Given the description of an element on the screen output the (x, y) to click on. 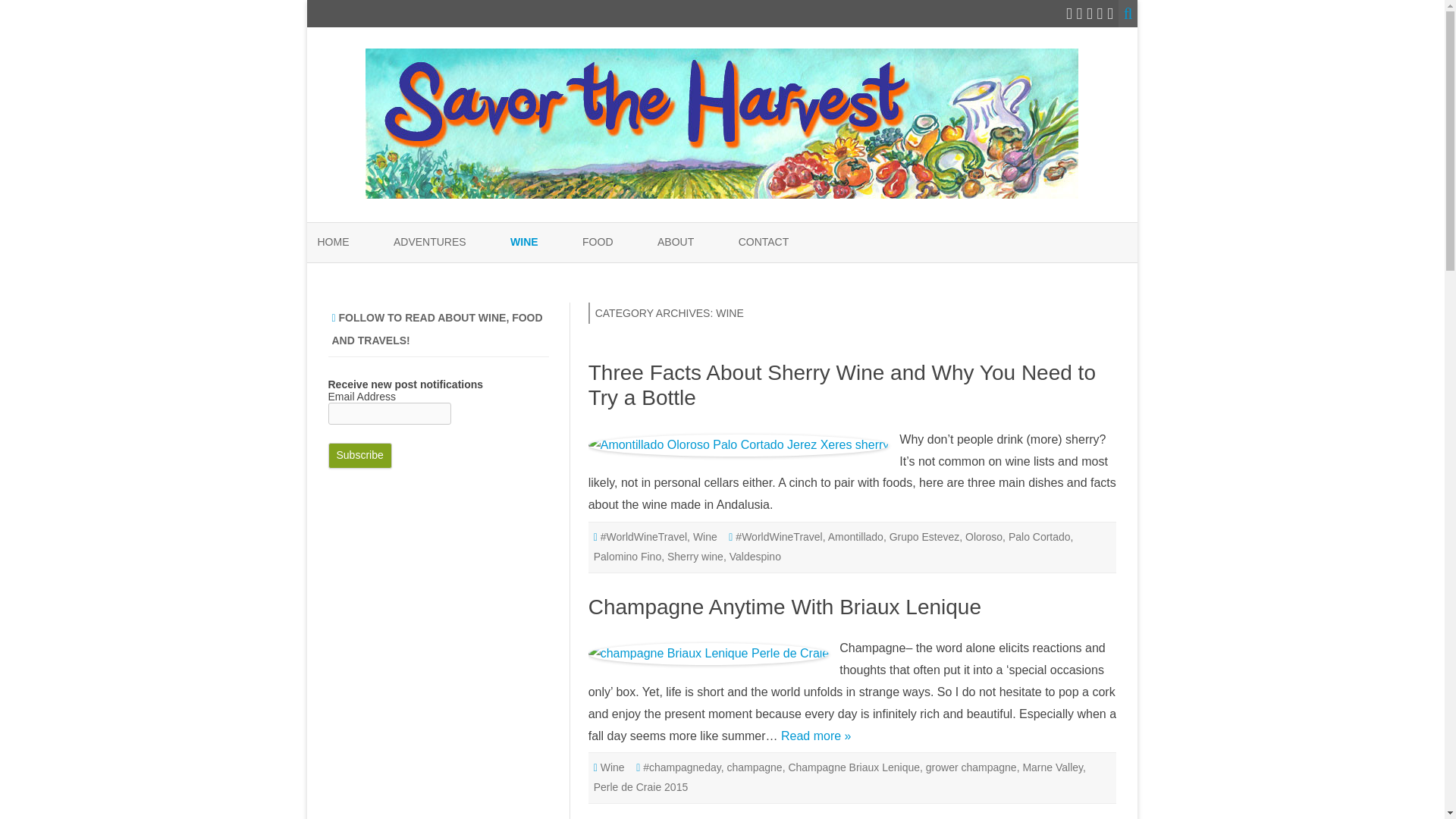
ABOUT (676, 242)
Amontillado (855, 536)
Grupo Estevez (924, 536)
Wine (705, 536)
Palomino Fino (628, 556)
Valdespino (754, 556)
ADVENTURES (429, 242)
